Given the description of an element on the screen output the (x, y) to click on. 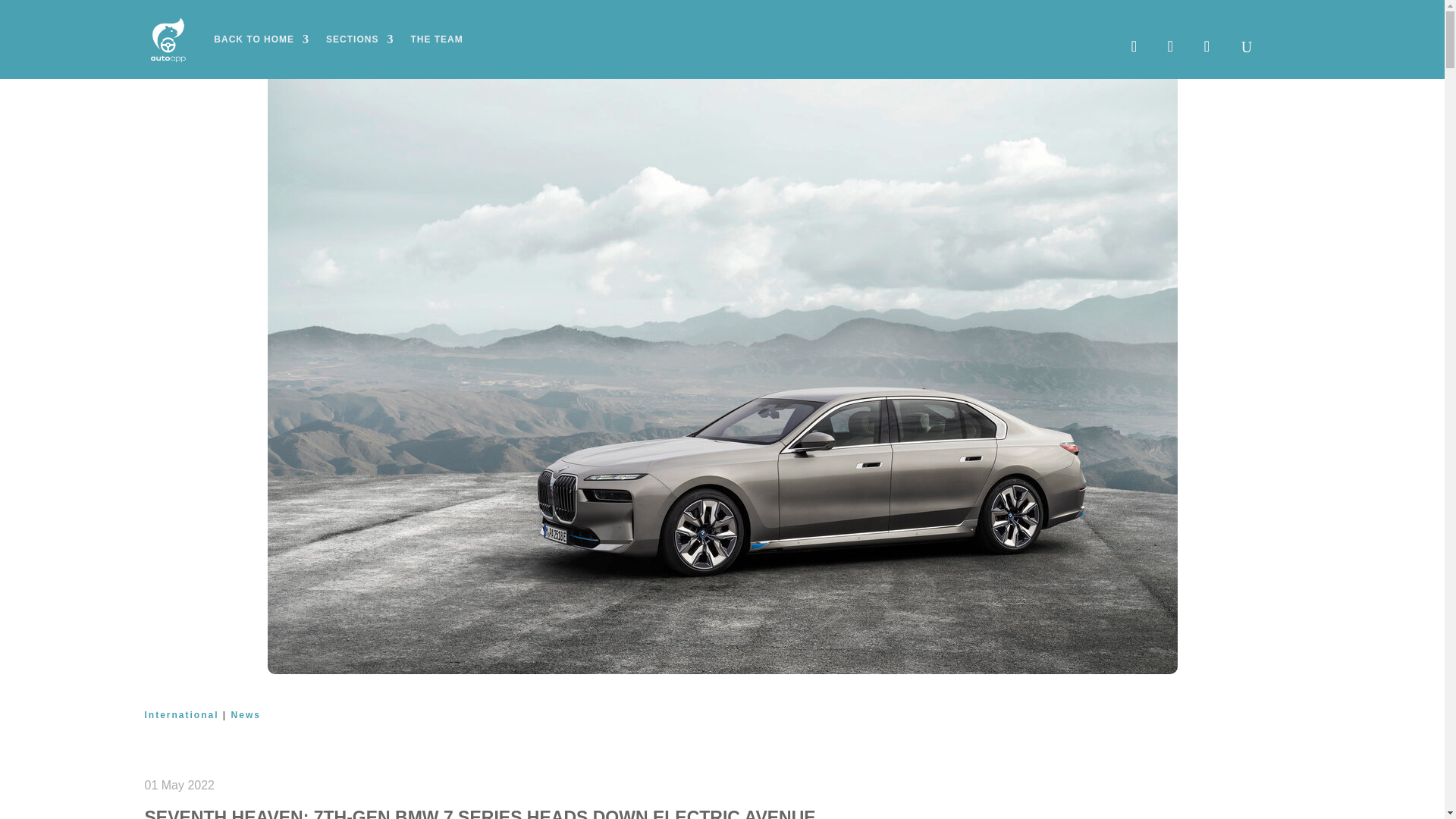
SECTIONS (359, 39)
Follow on Youtube (1206, 46)
Follow on Instagram (1169, 46)
BACK TO HOME (261, 39)
Follow on Facebook (1133, 46)
